Given the description of an element on the screen output the (x, y) to click on. 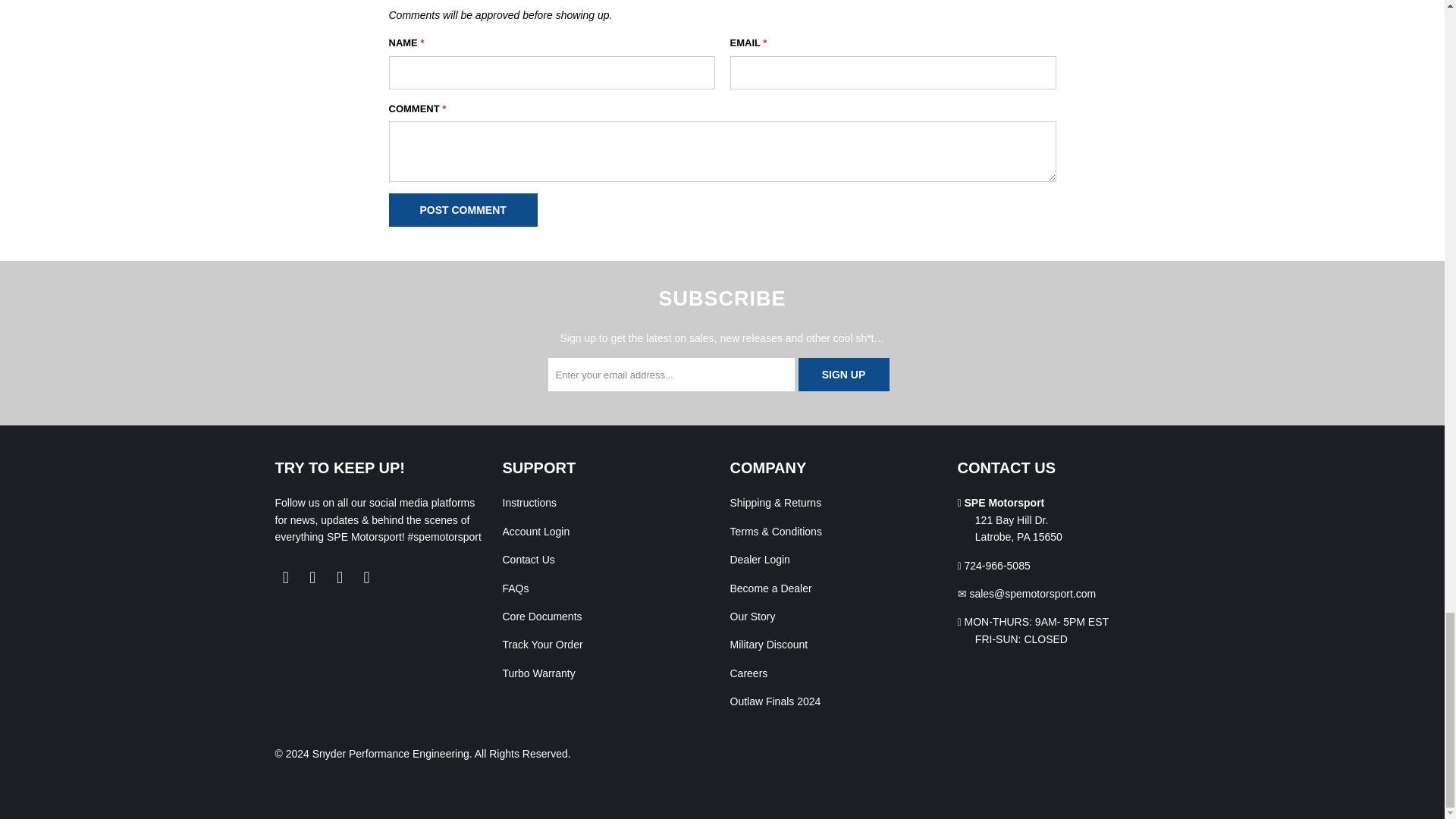
Email Snyder Performance Engineering (366, 577)
Snyder Performance Engineering on YouTube (312, 577)
Post comment (462, 209)
Snyder Performance Engineering on Instagram (340, 577)
Sign Up (842, 374)
Snyder Performance Engineering on Facebook (286, 577)
